Given the description of an element on the screen output the (x, y) to click on. 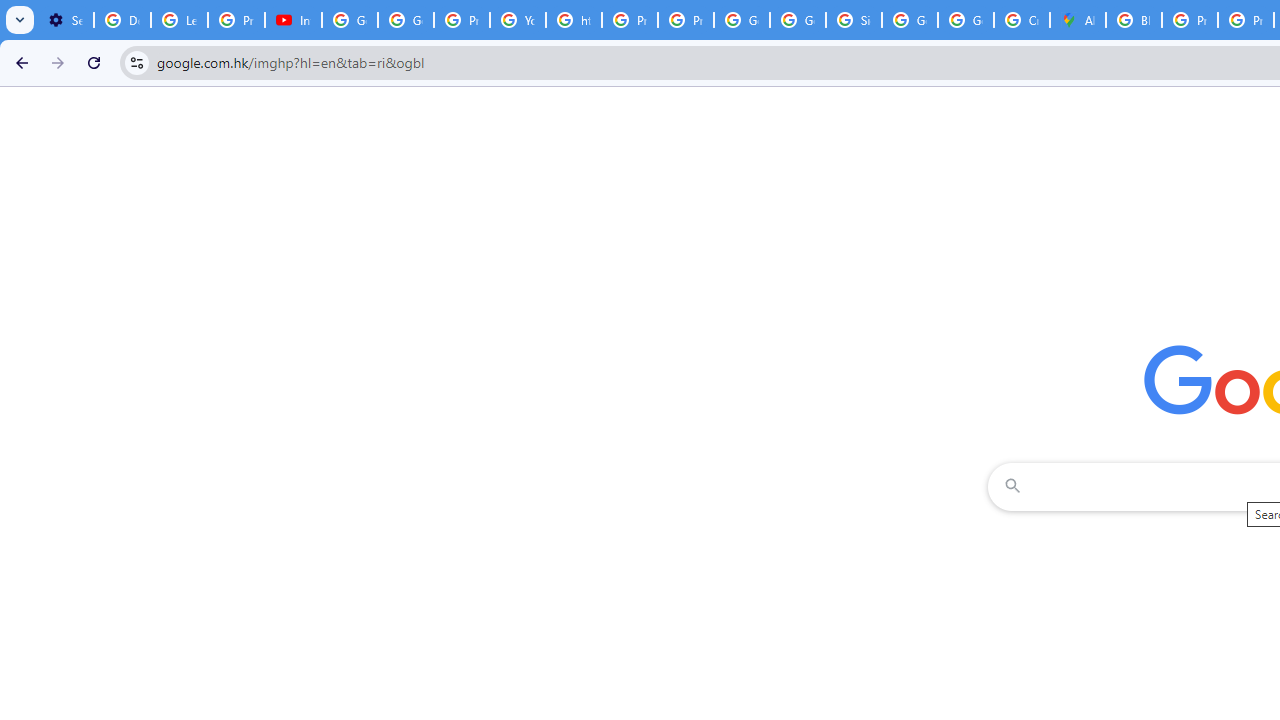
https://scholar.google.com/ (573, 20)
Privacy Help Center - Policies Help (629, 20)
Sign in - Google Accounts (853, 20)
Create your Google Account (1021, 20)
Learn how to find your photos - Google Photos Help (179, 20)
